Given the description of an element on the screen output the (x, y) to click on. 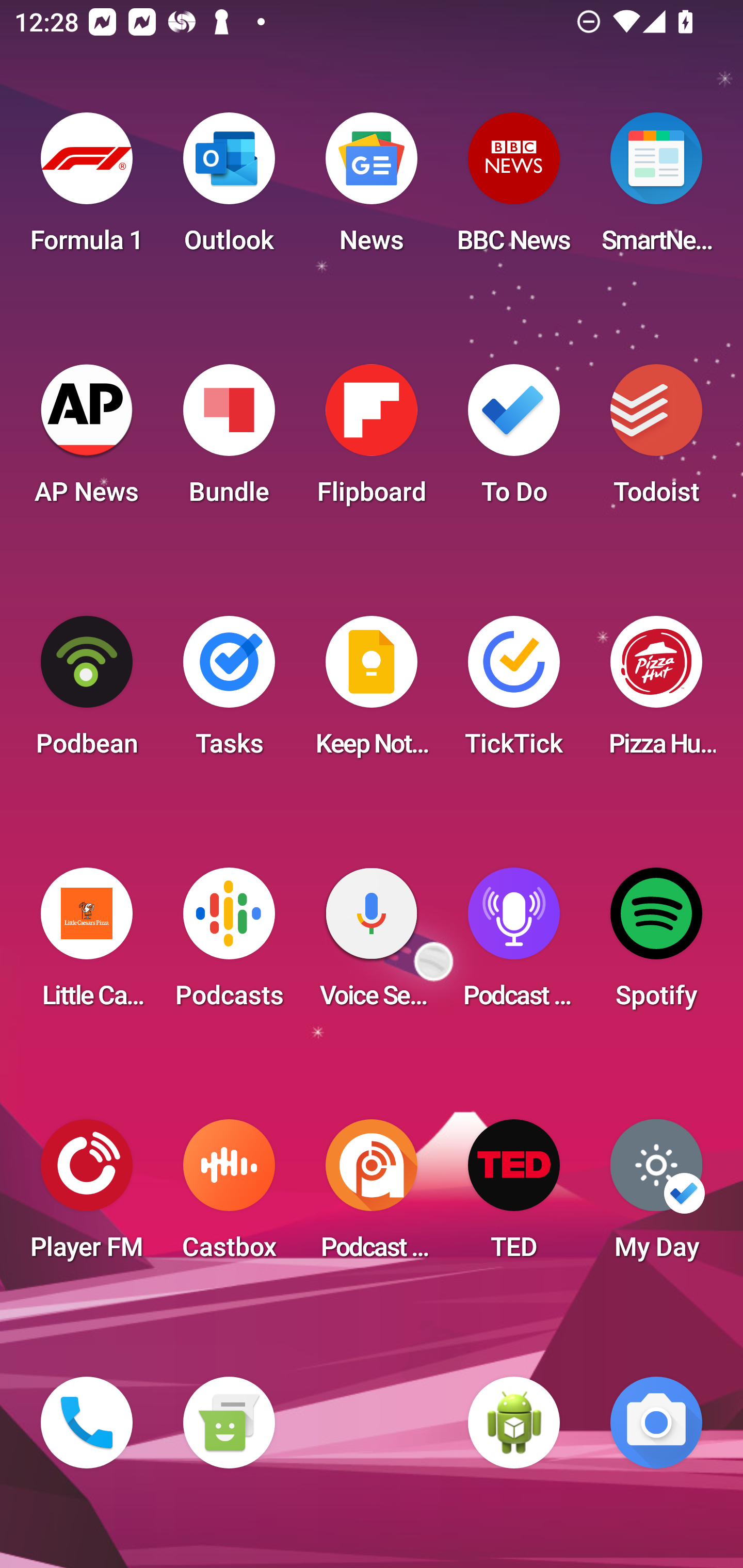
Formula 1 (86, 188)
Outlook (228, 188)
News (371, 188)
BBC News (513, 188)
SmartNews (656, 188)
AP News (86, 440)
Bundle (228, 440)
Flipboard (371, 440)
To Do (513, 440)
Todoist (656, 440)
Podbean (86, 692)
Tasks (228, 692)
Keep Notes (371, 692)
TickTick (513, 692)
Pizza Hut HK & Macau (656, 692)
Little Caesars Pizza (86, 943)
Podcasts (228, 943)
Voice Search (371, 943)
Podcast Player (513, 943)
Spotify (656, 943)
Player FM (86, 1195)
Castbox (228, 1195)
Podcast Addict (371, 1195)
TED (513, 1195)
My Day (656, 1195)
Phone (86, 1422)
Messaging (228, 1422)
WebView Browser Tester (513, 1422)
Camera (656, 1422)
